Given the description of an element on the screen output the (x, y) to click on. 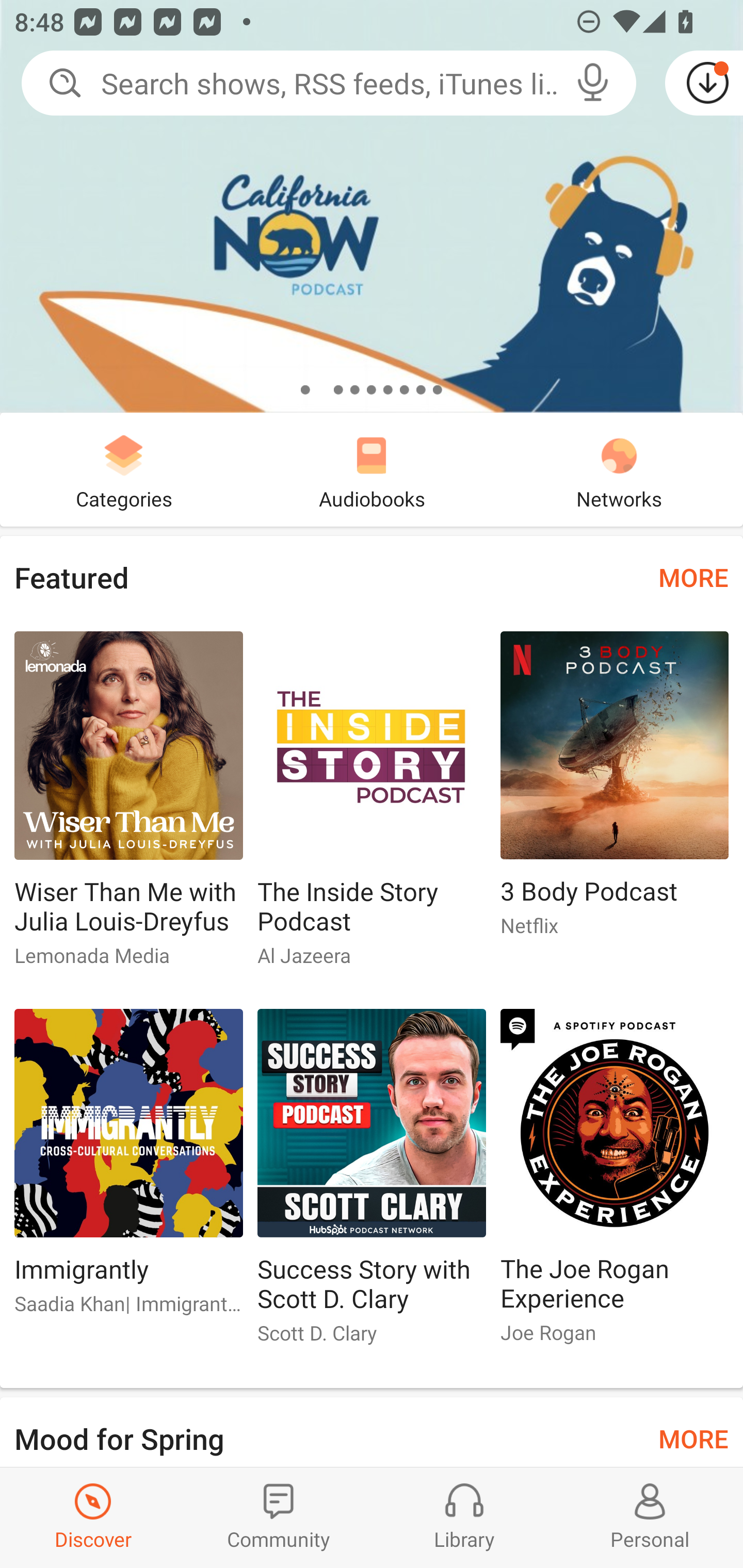
California Now Podcast (371, 206)
Categories (123, 469)
Audiobooks (371, 469)
Networks (619, 469)
MORE (693, 576)
3 Body Podcast 3 Body Podcast Netflix (614, 792)
MORE (693, 1436)
Discover (92, 1517)
Community (278, 1517)
Library (464, 1517)
Profiles and Settings Personal (650, 1517)
